Given the description of an element on the screen output the (x, y) to click on. 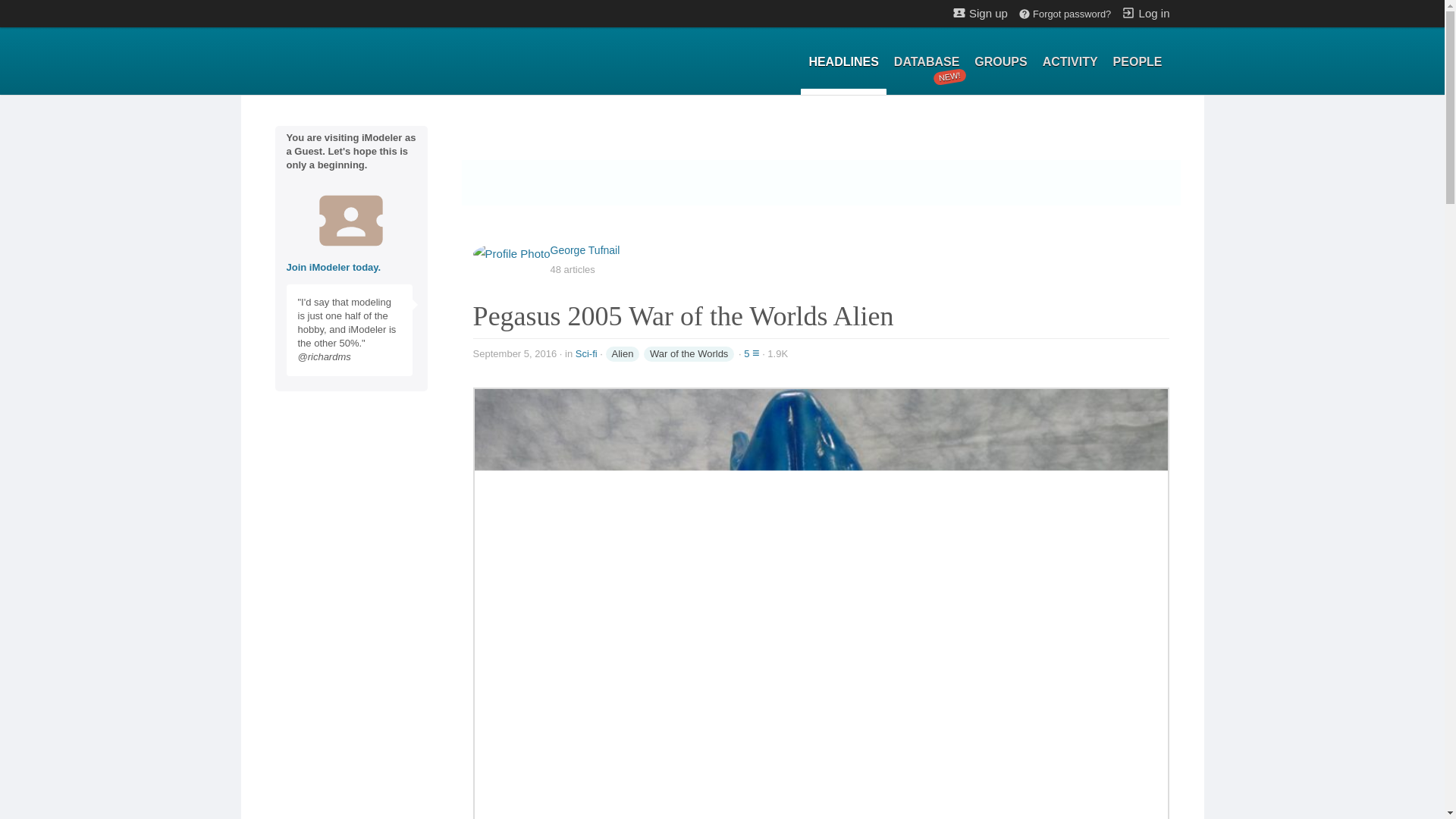
War of the Worlds (688, 353)
Join iModeler today. (333, 266)
PEOPLE (1137, 61)
Sign up (979, 12)
George Tufnail (585, 250)
ACTIVITY (1070, 61)
GROUPS (999, 61)
Alien (622, 353)
Log in (1145, 12)
HEADLINES (842, 61)
Sci-fi (927, 61)
Forgot password? (585, 353)
Home (1063, 13)
